Given the description of an element on the screen output the (x, y) to click on. 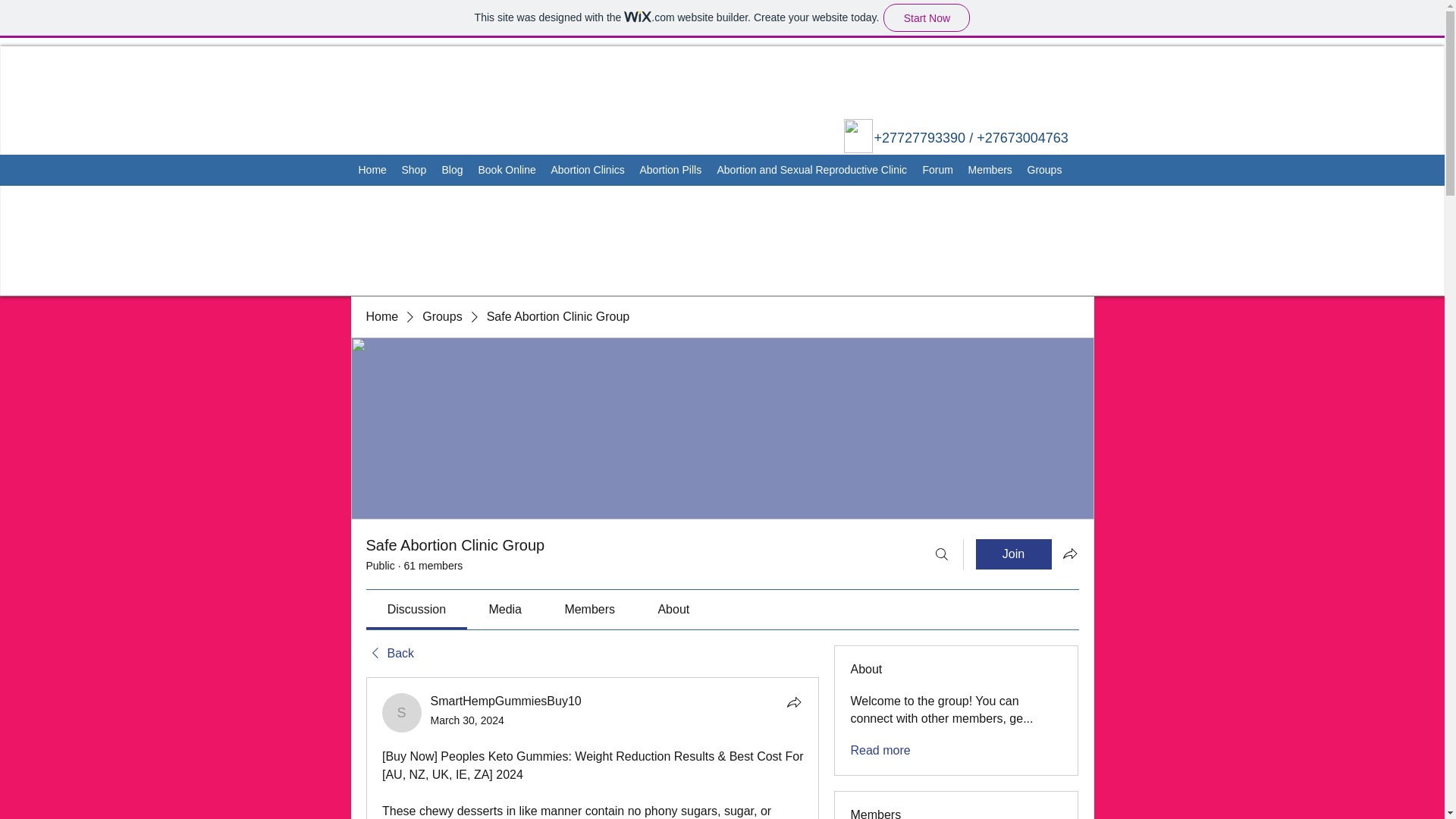
Shop (413, 169)
SmartHempGummiesBuy10 (401, 712)
Book Online (506, 169)
Home (371, 169)
Blog (451, 169)
Abortion Pills in Johannesburg (857, 135)
Abortion Clinics (587, 169)
